Given the description of an element on the screen output the (x, y) to click on. 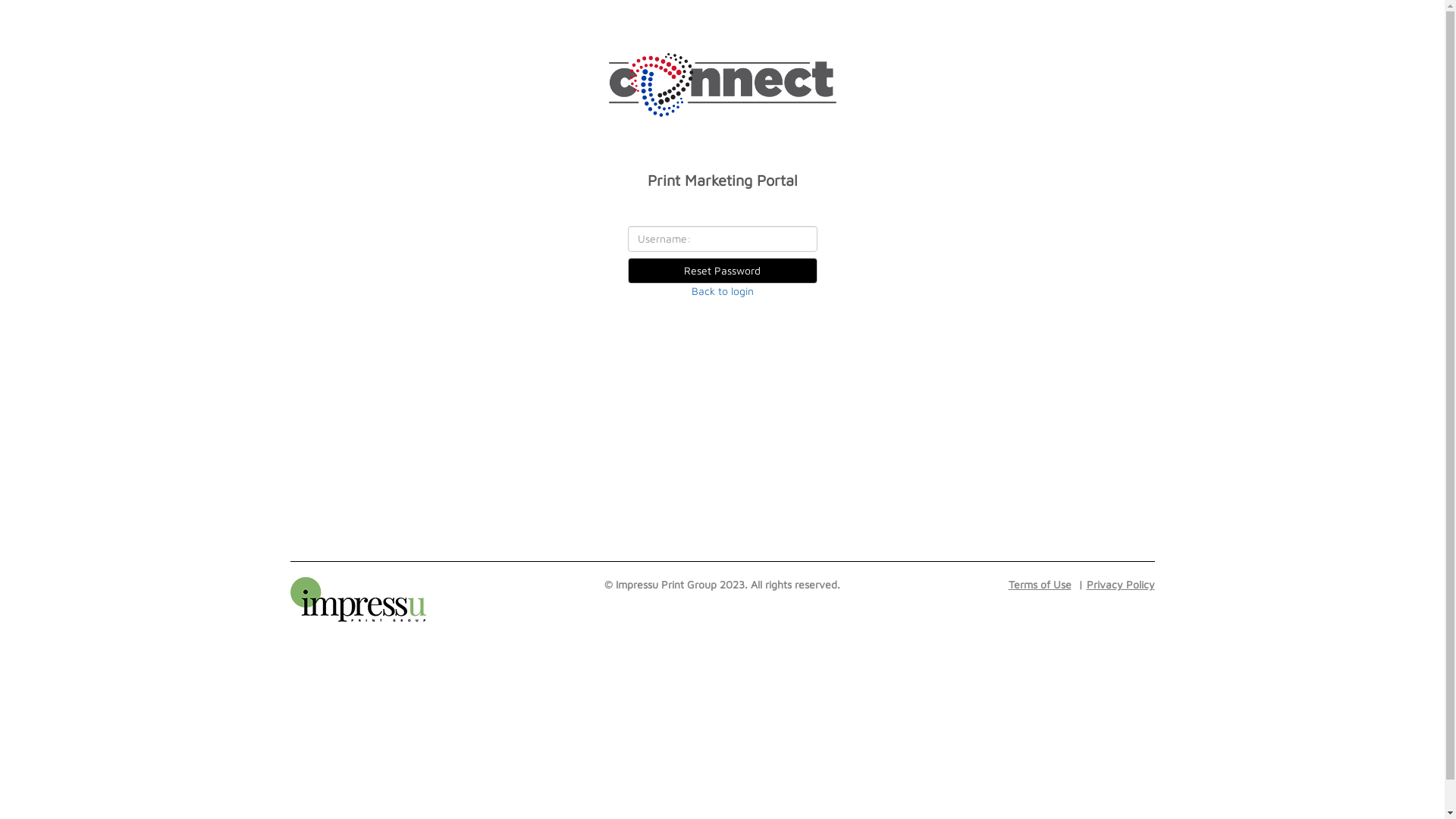
Terms of Use Element type: text (1039, 583)
Back to login Element type: text (722, 290)
Reset Password Element type: text (722, 270)
Privacy Policy Element type: text (1113, 583)
